Given the description of an element on the screen output the (x, y) to click on. 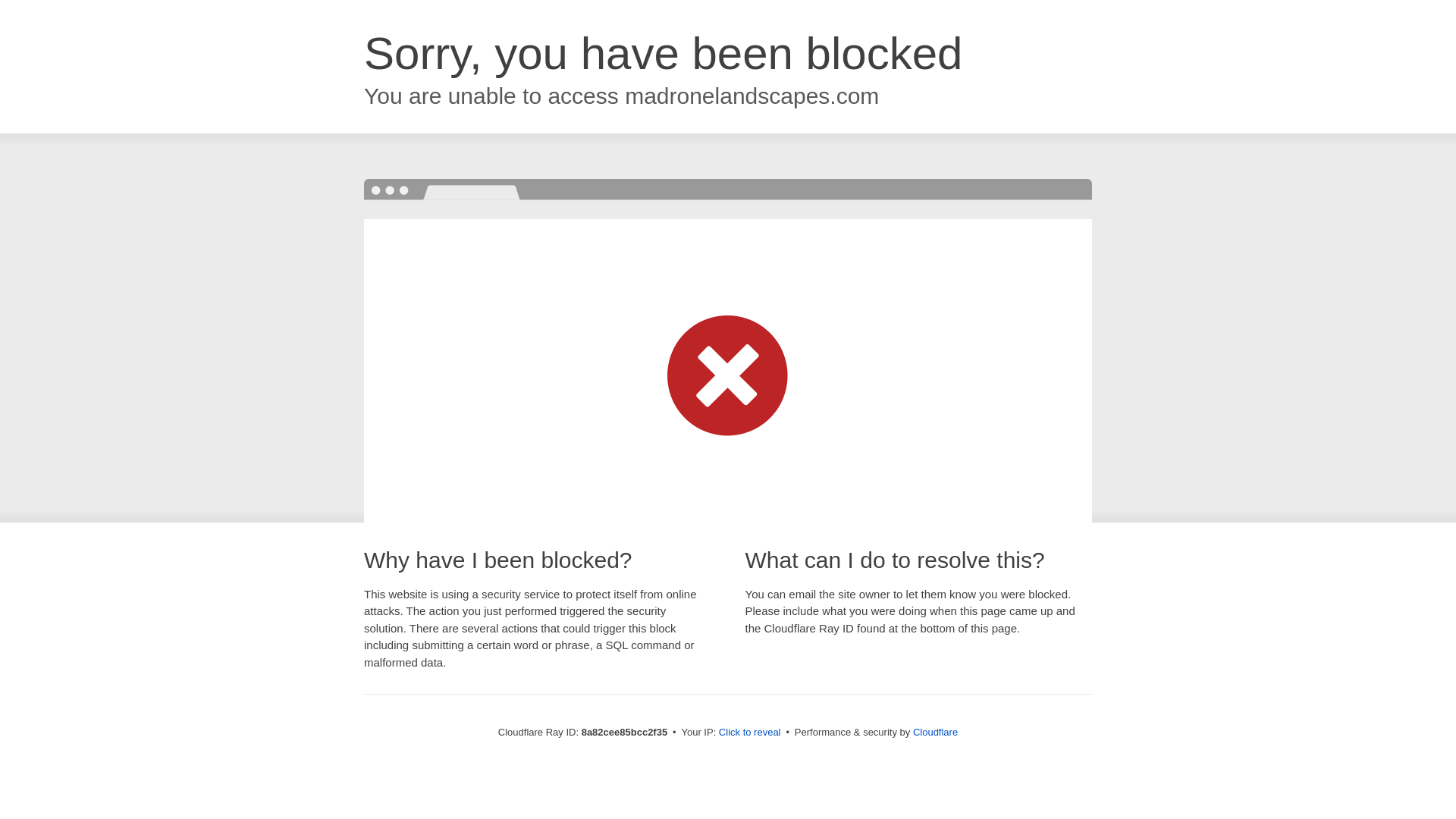
Cloudflare (935, 731)
Click to reveal (749, 732)
